Given the description of an element on the screen output the (x, y) to click on. 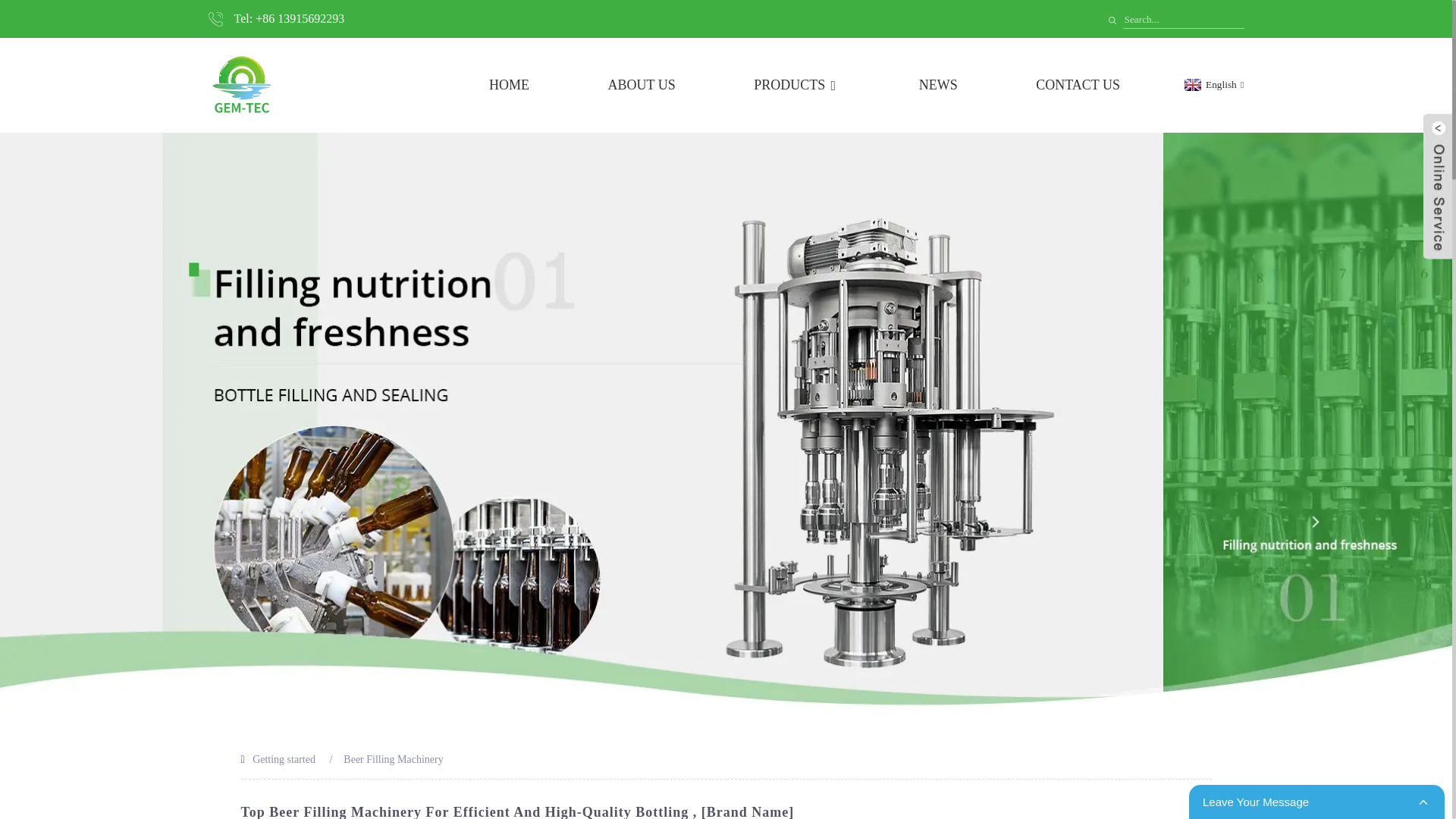
HOME (509, 84)
Beer Filling Machinery (392, 758)
English (1211, 84)
Getting started (283, 758)
ABOUT US (641, 84)
NEWS (938, 84)
PRODUCTS (797, 84)
CONTACT US (1077, 84)
